Given the description of an element on the screen output the (x, y) to click on. 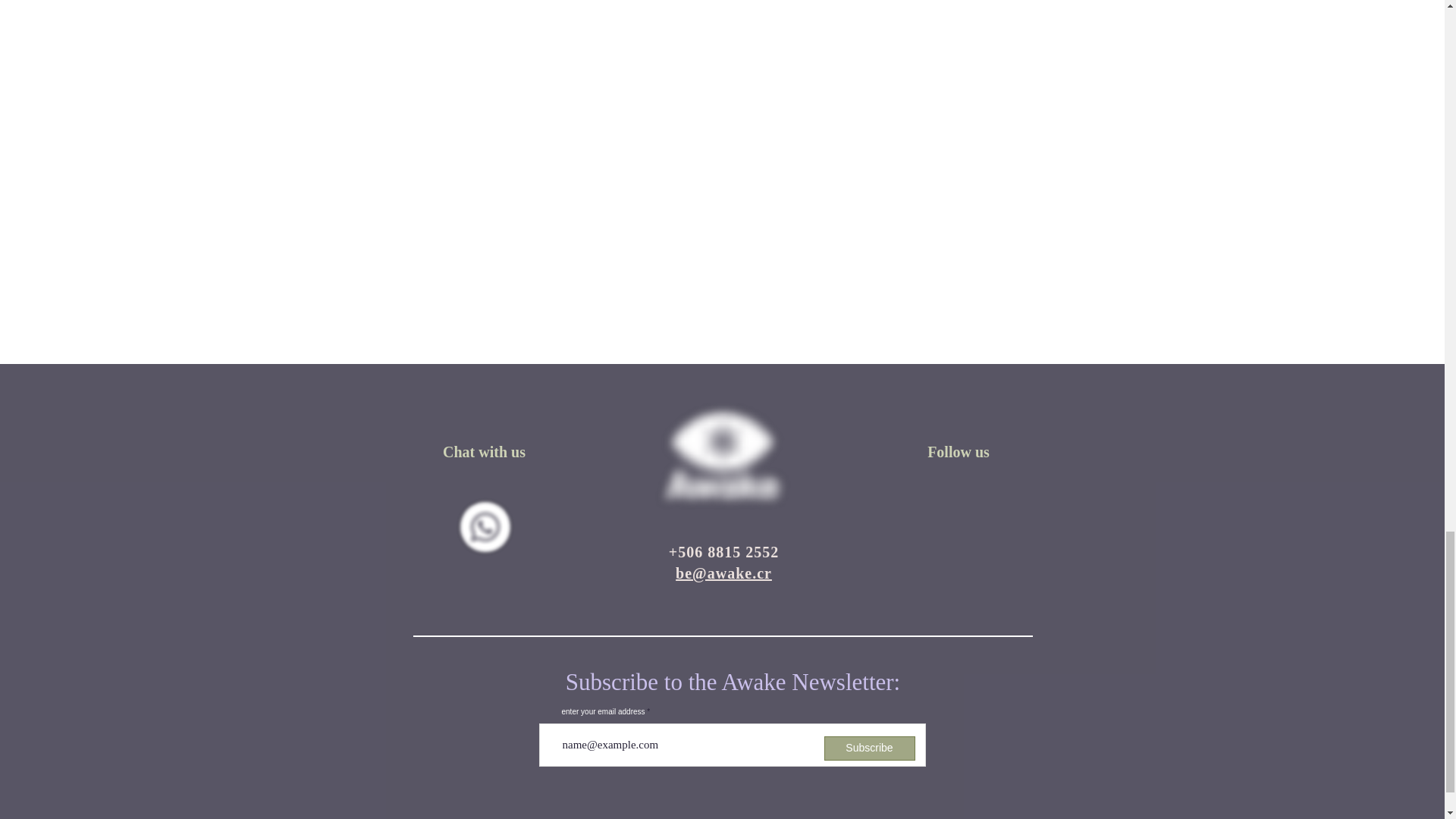
pngfind.com-whatsapp-symbol-png-271886.png (484, 526)
Subscribe (869, 748)
